Given the description of an element on the screen output the (x, y) to click on. 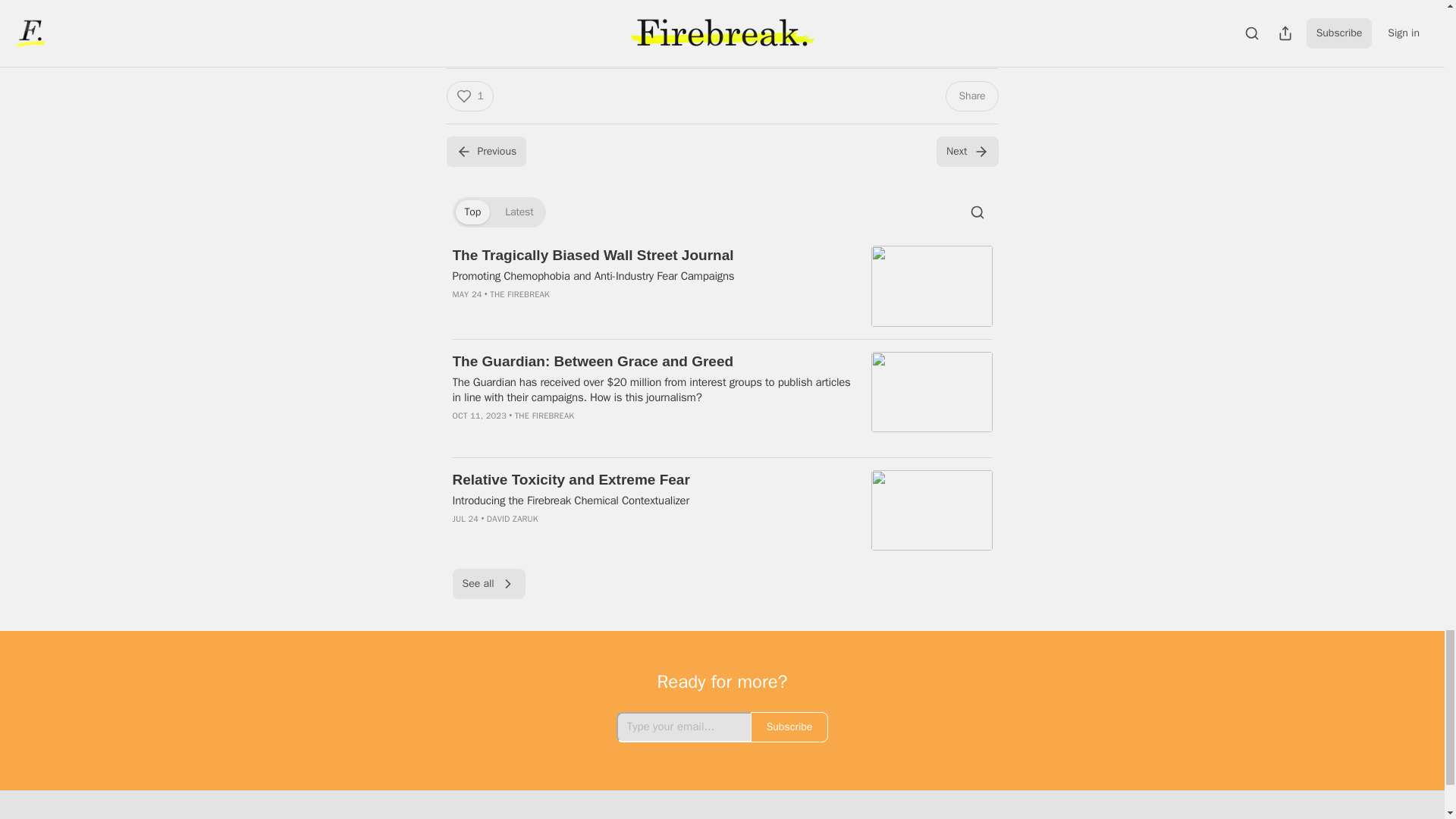
1 Like (464, 47)
Next (966, 151)
Subscribe (827, 2)
1 (469, 96)
1 Restack (514, 47)
Previous (485, 151)
Share (970, 96)
Top (471, 211)
